Given the description of an element on the screen output the (x, y) to click on. 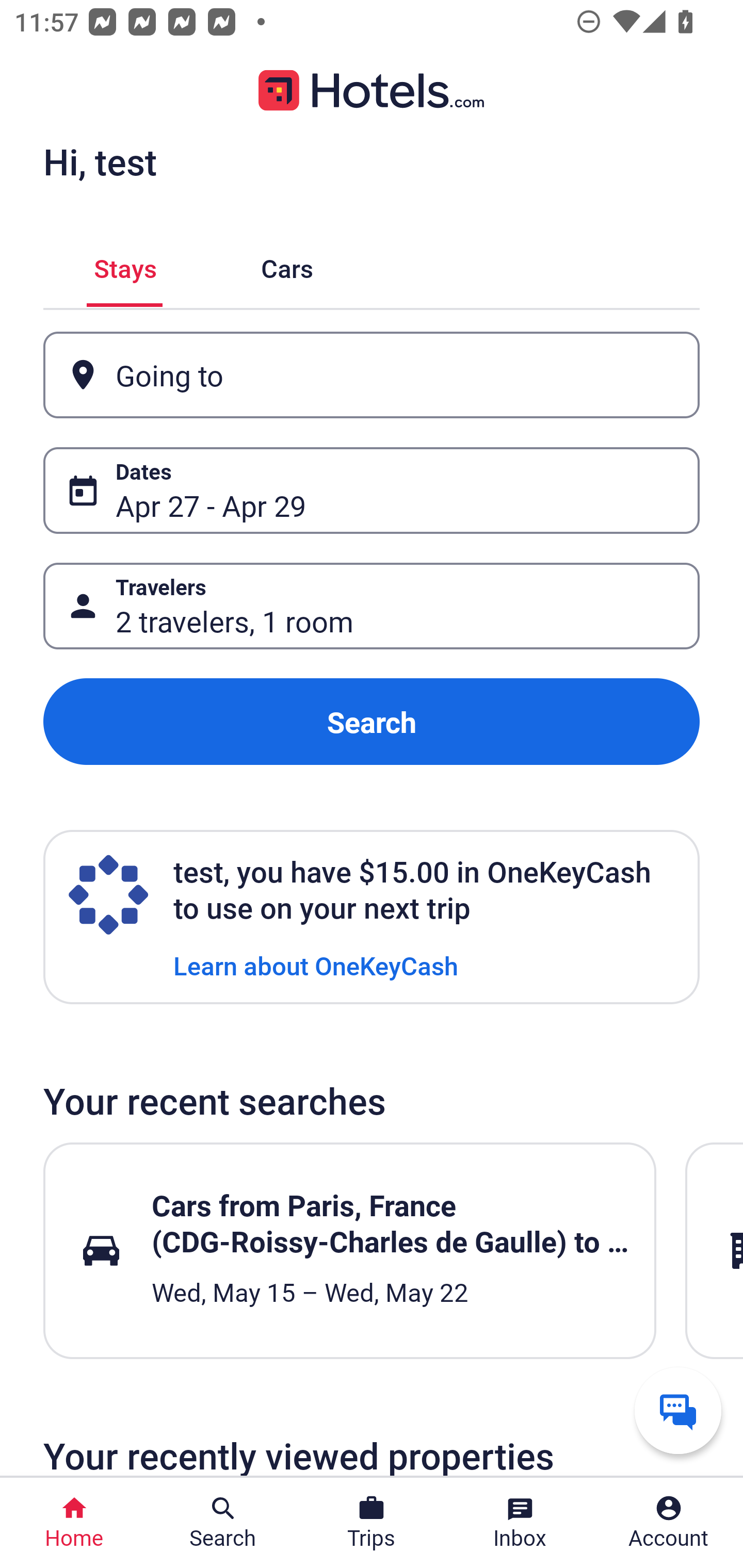
Hi, test (99, 161)
Cars (286, 265)
Going to Button (371, 375)
Dates Button Apr 27 - Apr 29 (371, 489)
Travelers Button 2 travelers, 1 room (371, 605)
Search (371, 721)
Learn about OneKeyCash Learn about OneKeyCash Link (315, 964)
Get help from a virtual agent (677, 1410)
Search Search Button (222, 1522)
Trips Trips Button (371, 1522)
Inbox Inbox Button (519, 1522)
Account Profile. Button (668, 1522)
